Given the description of an element on the screen output the (x, y) to click on. 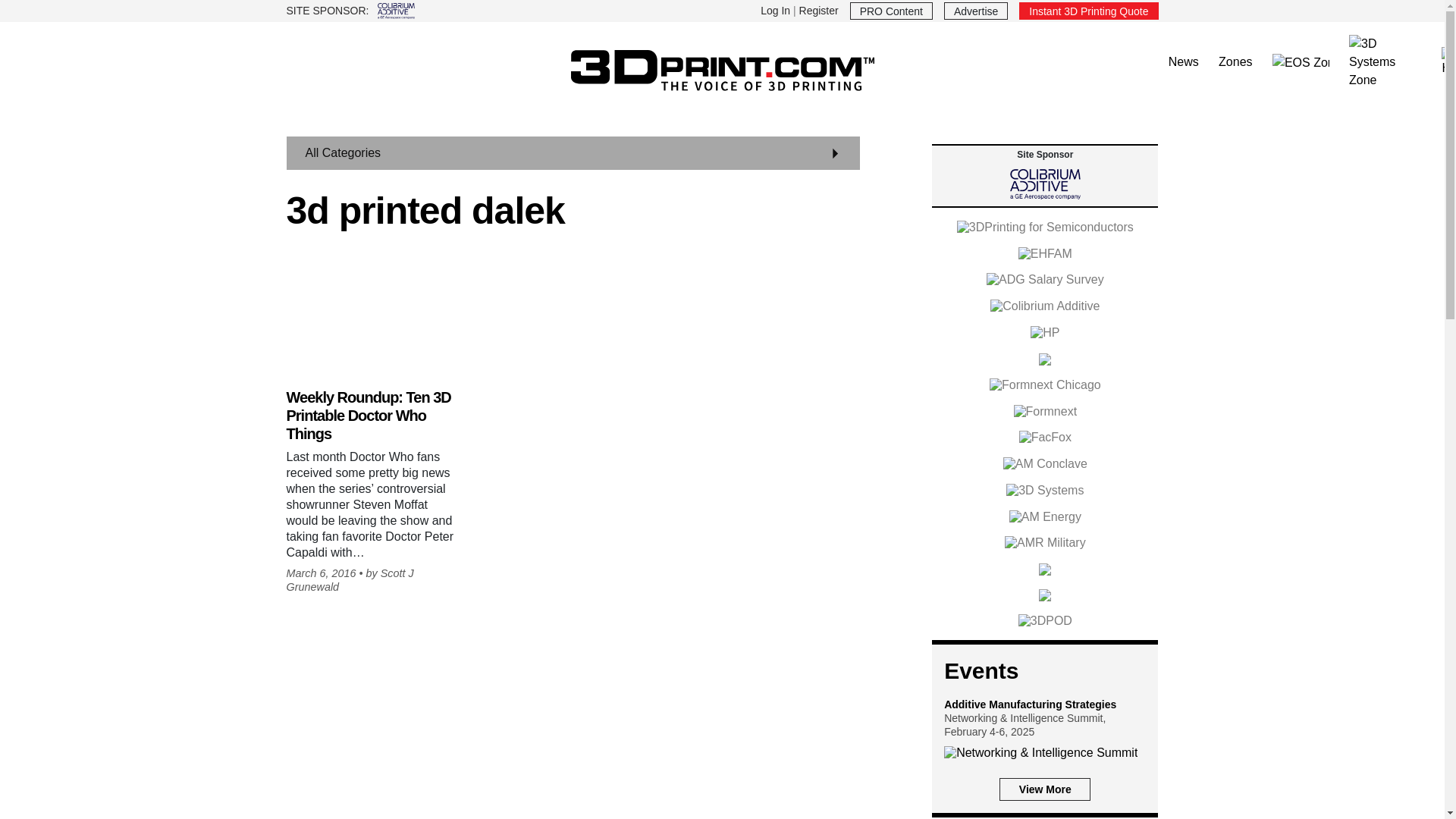
Instant 3D Printing Quote (1088, 10)
PRO Content (891, 10)
Register (818, 10)
News (1183, 62)
Zones (1235, 62)
Advertise (975, 10)
Log In (775, 10)
SITE SPONSOR: (498, 10)
